Given the description of an element on the screen output the (x, y) to click on. 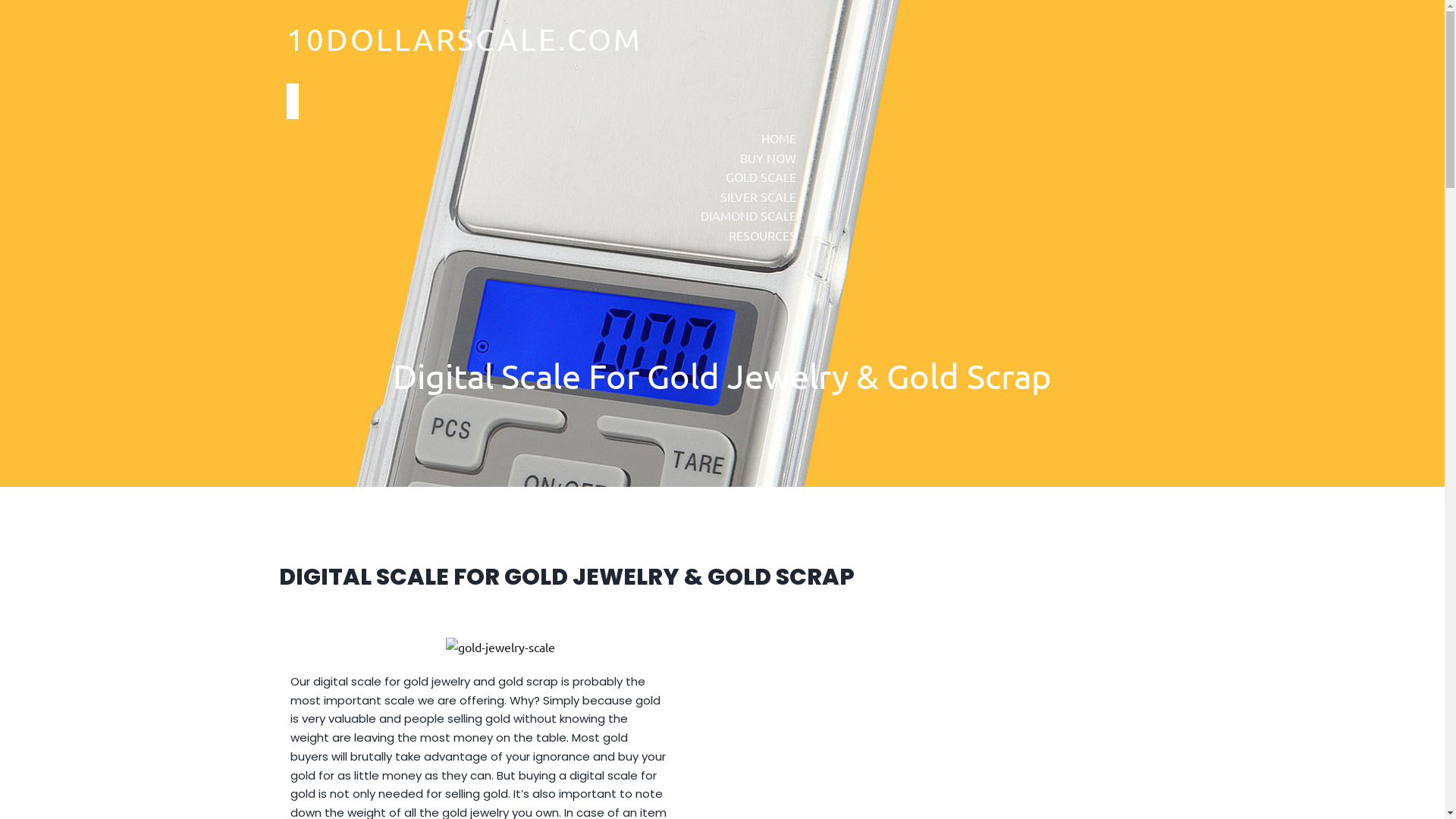
GOLD SCALE Element type: text (760, 176)
HOME Element type: text (778, 137)
BUY NOW Element type: text (767, 157)
DIAMOND SCALE Element type: text (748, 215)
SILVER SCALE Element type: text (757, 196)
gold-jewelry-scale Element type: hover (500, 647)
RESOURCES Element type: text (761, 234)
10DOLLARSCALE.COM Element type: text (456, 39)
